Given the description of an element on the screen output the (x, y) to click on. 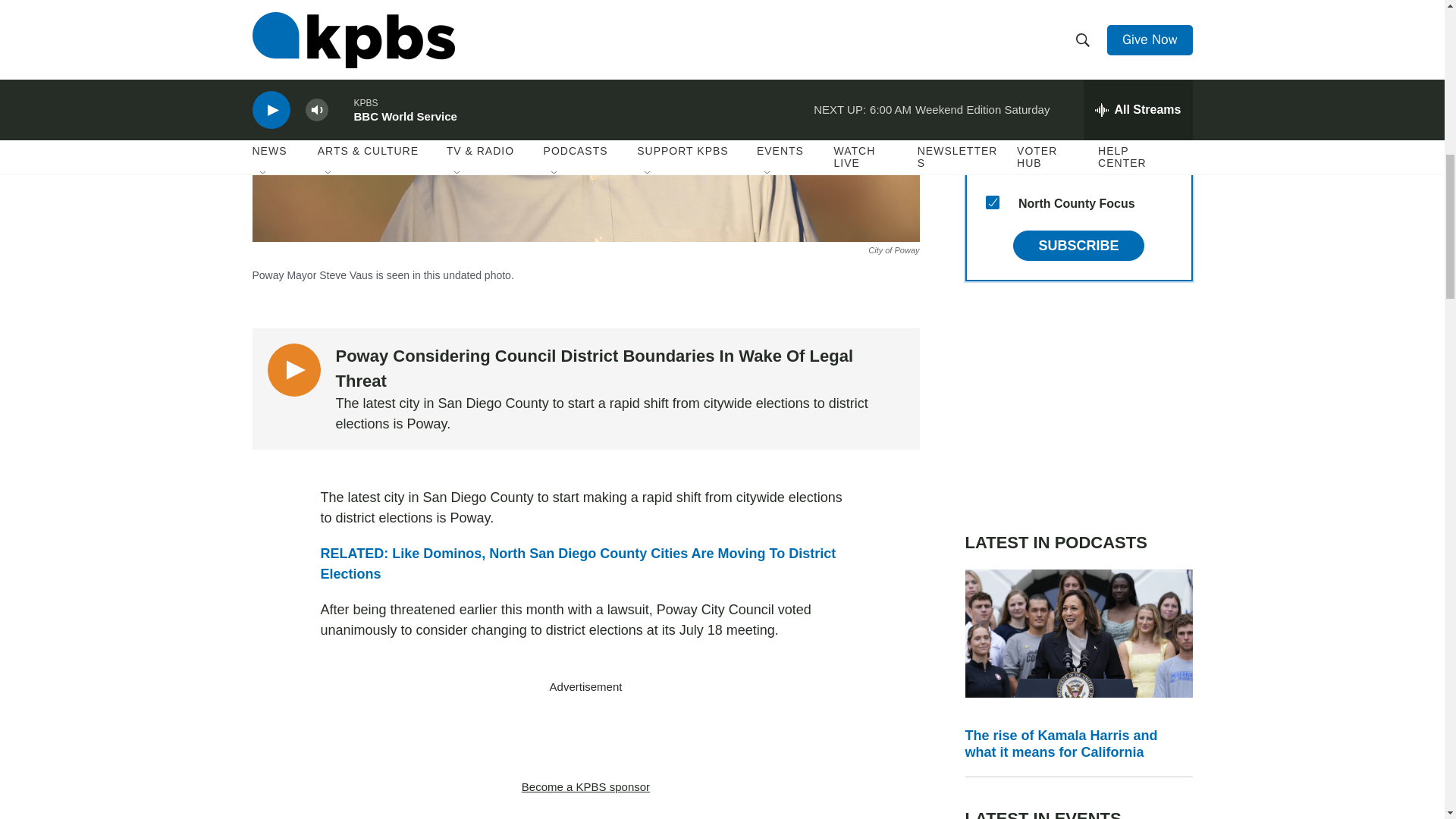
8 (991, 165)
1 (991, 129)
2 (991, 92)
3rd party ad content (1077, 406)
3rd party ad content (584, 736)
5 (991, 20)
15 (991, 202)
6 (991, 56)
